Given the description of an element on the screen output the (x, y) to click on. 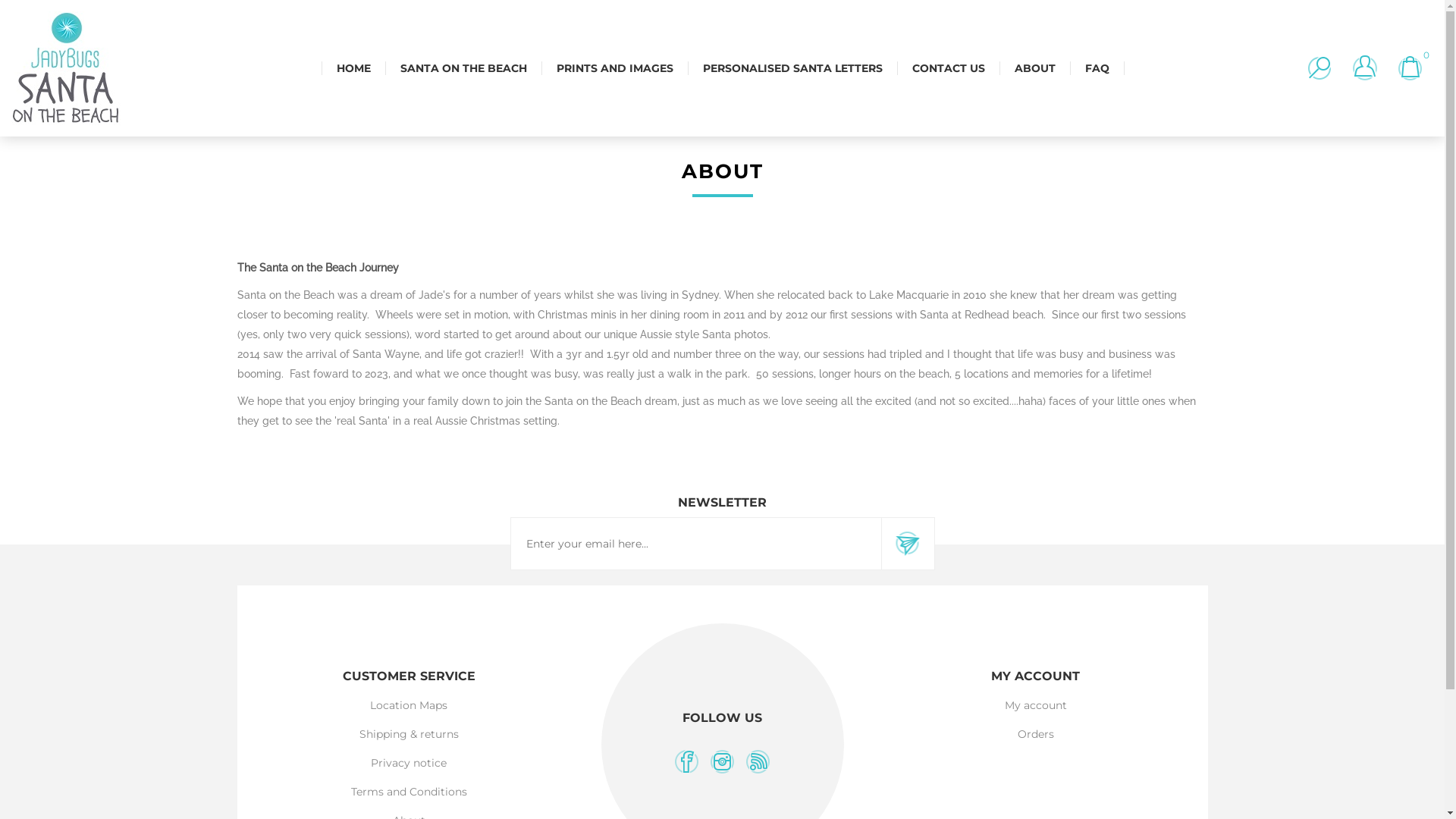
Orders Element type: text (1035, 733)
CONTACT US Element type: text (947, 67)
Shipping & returns Element type: text (408, 733)
ABOUT Element type: text (1034, 67)
HOME Element type: text (353, 67)
PERSONALISED SANTA LETTERS Element type: text (792, 67)
JadyBugs Santa On The Beach Element type: hover (65, 68)
Privacy notice Element type: text (408, 762)
Terms and Conditions Element type: text (409, 791)
My account Element type: text (1035, 704)
PRINTS AND IMAGES Element type: text (614, 67)
Subscribe Element type: text (907, 543)
0 Element type: text (1410, 68)
SANTA ON THE BEACH Element type: text (463, 67)
FAQ Element type: text (1096, 67)
Location Maps Element type: text (408, 704)
